Given the description of an element on the screen output the (x, y) to click on. 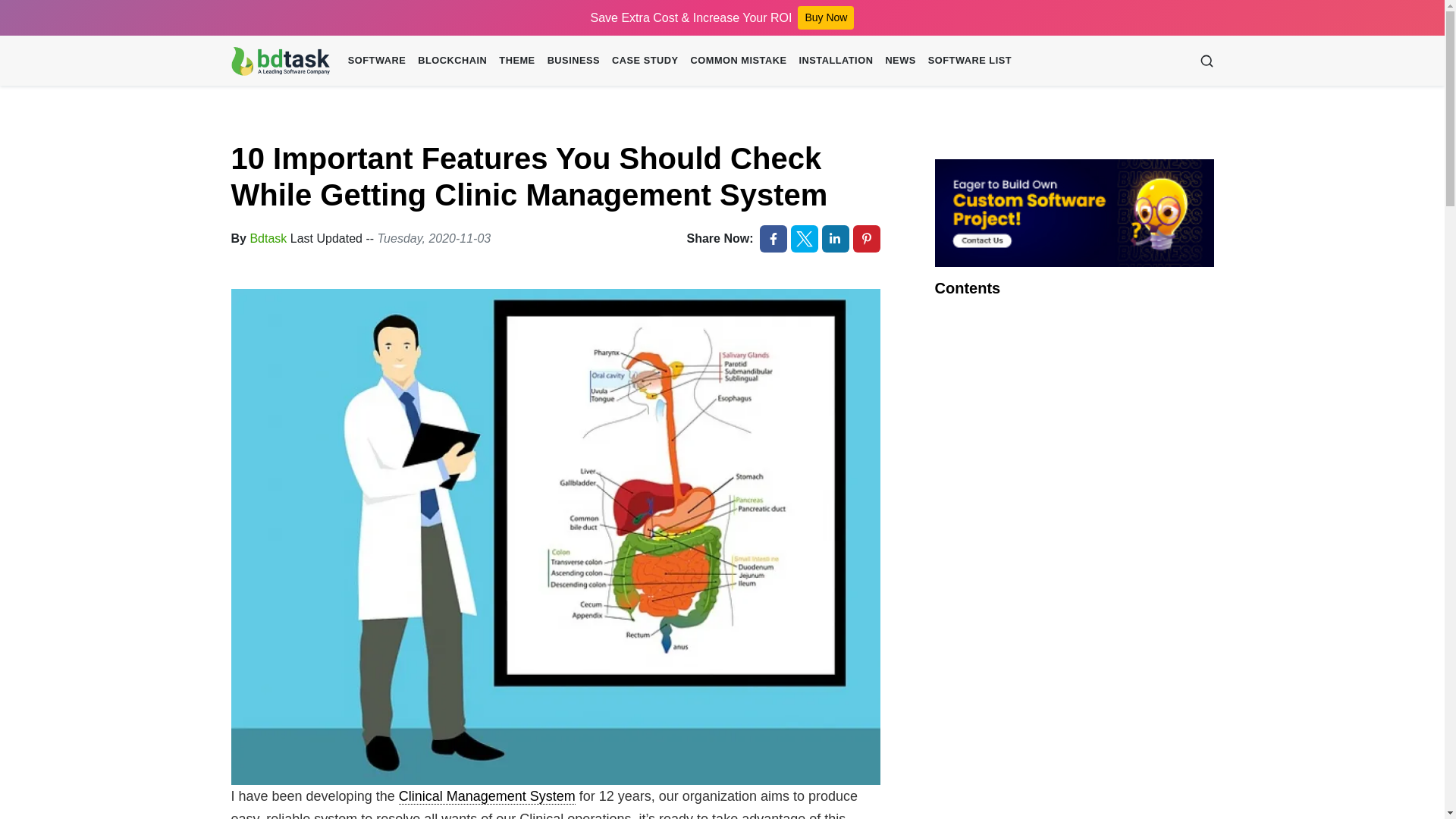
SOFTWARE (377, 59)
COMMON MISTAKE (738, 59)
BLOCKCHAIN (452, 59)
Buy Now (825, 17)
THEME (516, 59)
Clinical Management System (486, 796)
Bdtask (267, 237)
INSTALLATION (835, 59)
BUSINESS (573, 59)
NEWS (900, 59)
SOFTWARE LIST (969, 59)
CASE STUDY (644, 59)
